Given the description of an element on the screen output the (x, y) to click on. 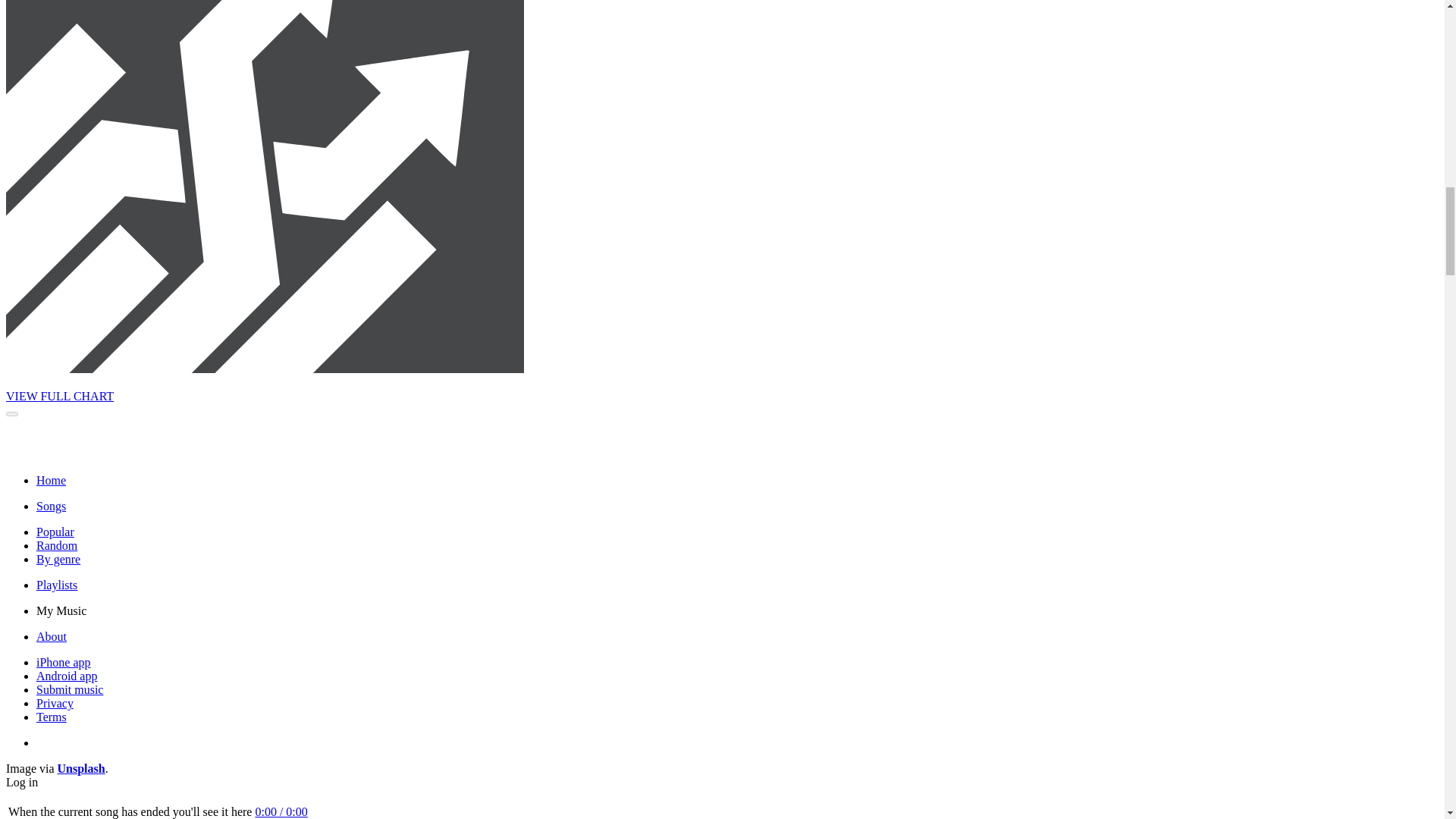
Popular (55, 531)
Popular Songs (55, 531)
Download iPhone App (63, 662)
Log in (21, 781)
Privacy (55, 703)
New Songs (50, 505)
Submit music (69, 689)
Playlists (56, 584)
By genre (58, 558)
Android app (66, 675)
